Given the description of an element on the screen output the (x, y) to click on. 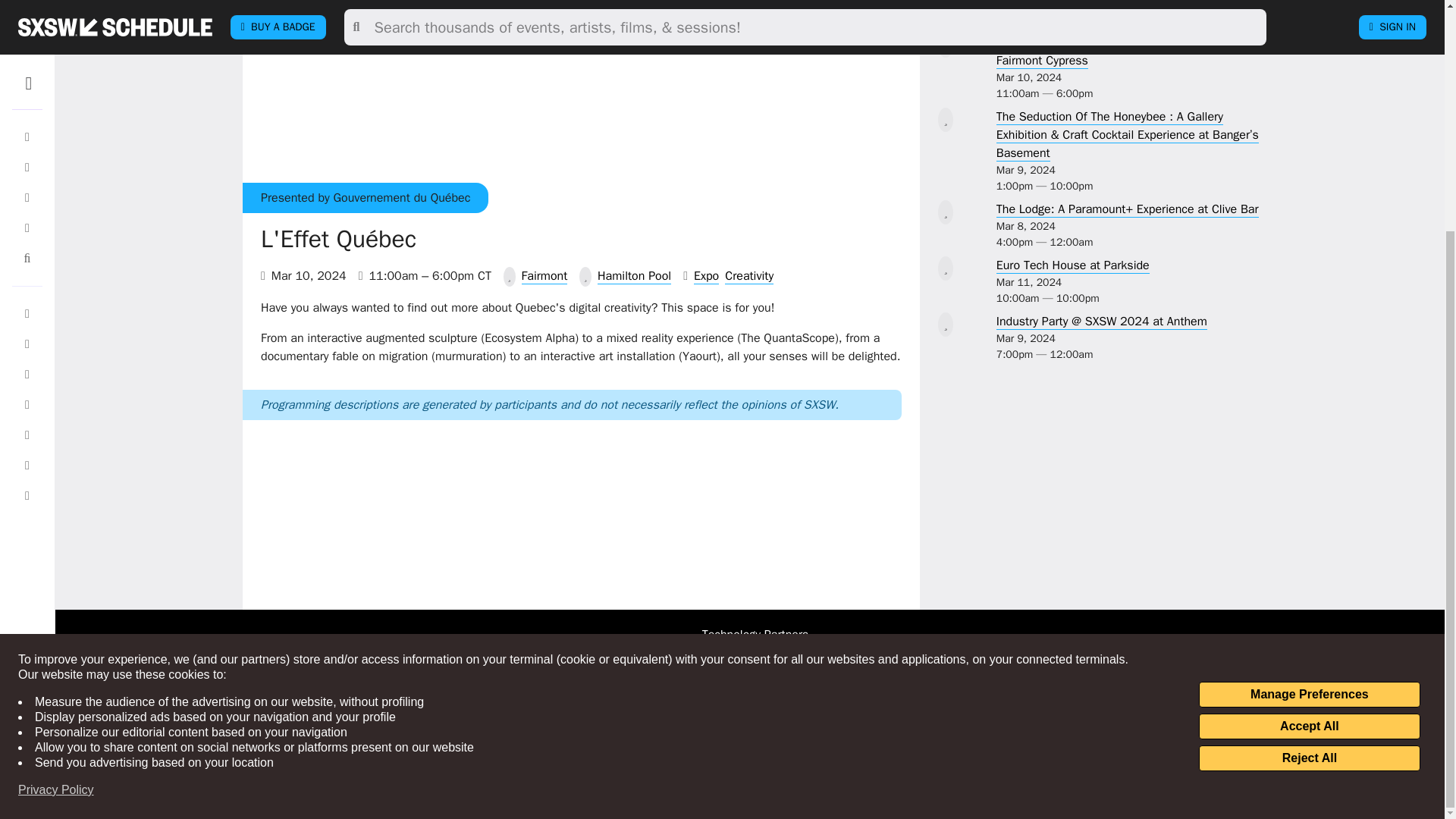
Accept All (1309, 413)
Privacy Policy (55, 477)
Fairmont (544, 276)
Reject All (1309, 445)
Manage Preferences (1309, 381)
